Given the description of an element on the screen output the (x, y) to click on. 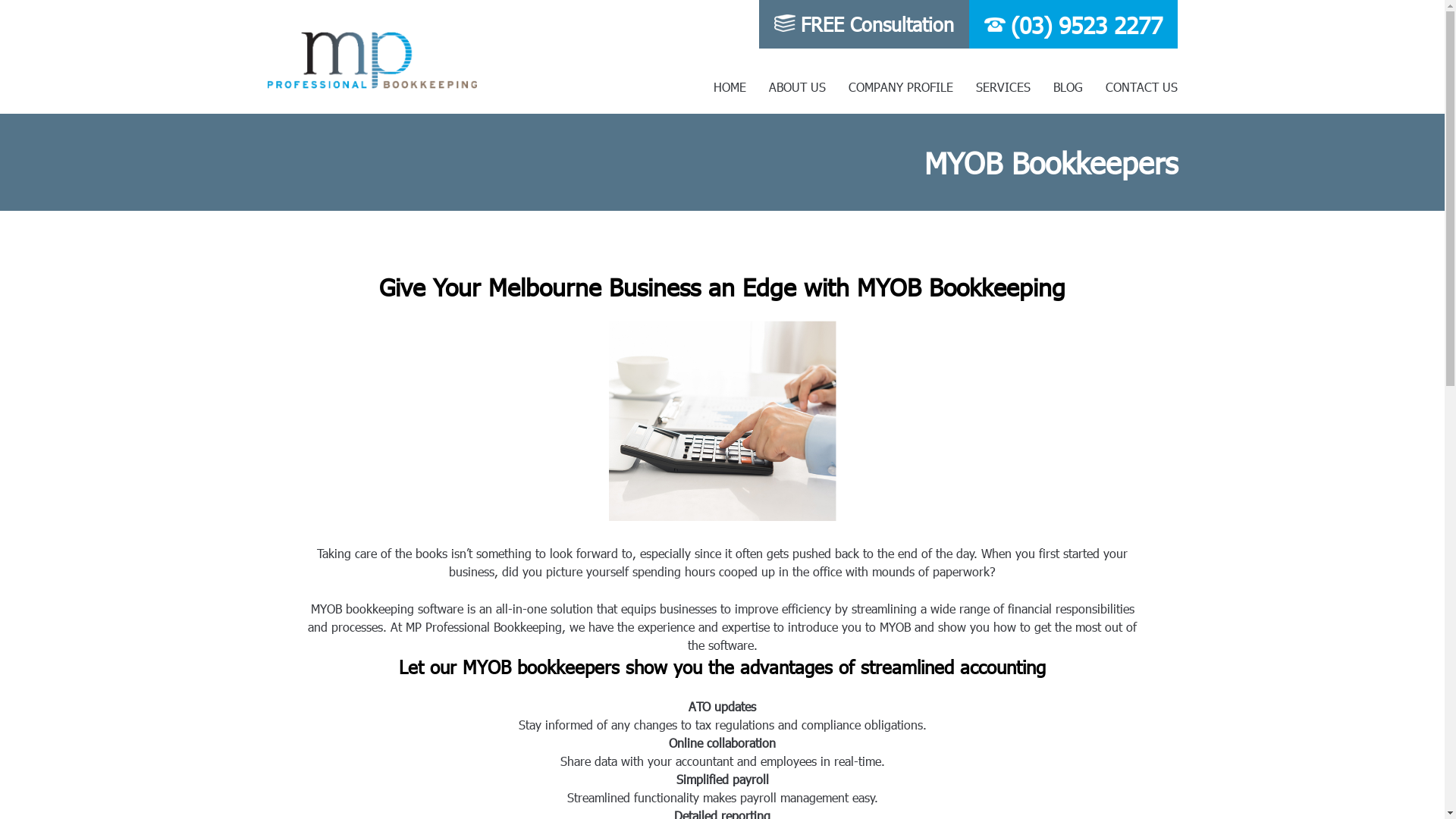
ABOUT US Element type: text (796, 86)
CONTACT US Element type: text (1141, 86)
HOME Element type: text (728, 86)
BLOG Element type: text (1067, 86)
(03) 9523 2277 Element type: text (1085, 23)
COMPANY PROFILE Element type: text (899, 86)
SERVICES Element type: text (1002, 86)
